Given the description of an element on the screen output the (x, y) to click on. 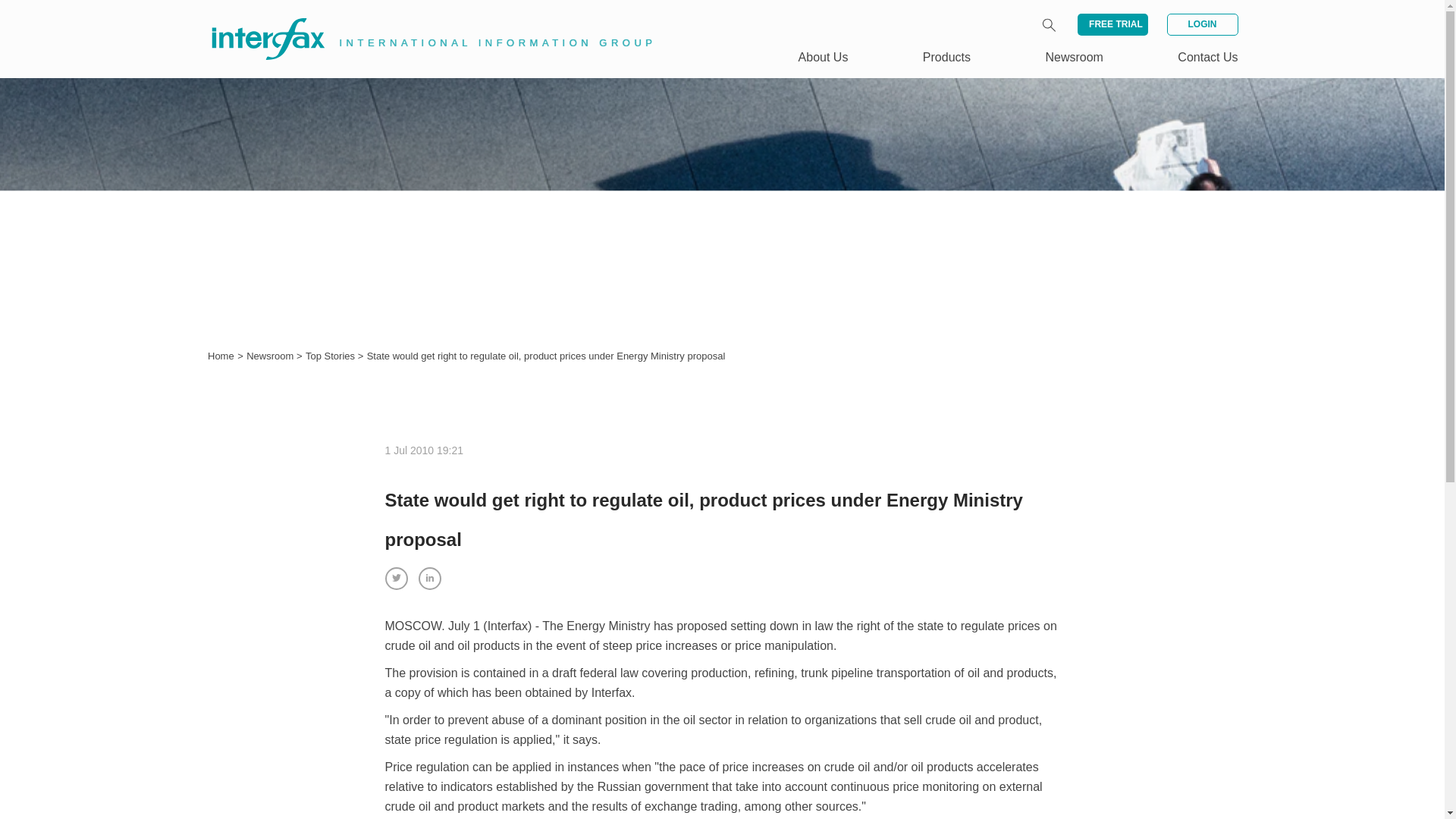
Contact Us (1207, 56)
Newsroom (271, 355)
About Us (822, 56)
Home (221, 355)
INTERNATIONAL INFORMATION GROUP (421, 20)
Contact Us (1207, 56)
Newsroom (271, 355)
Top Stories (331, 355)
FREE TRIAL (1112, 24)
Newsroom (1073, 56)
